Given the description of an element on the screen output the (x, y) to click on. 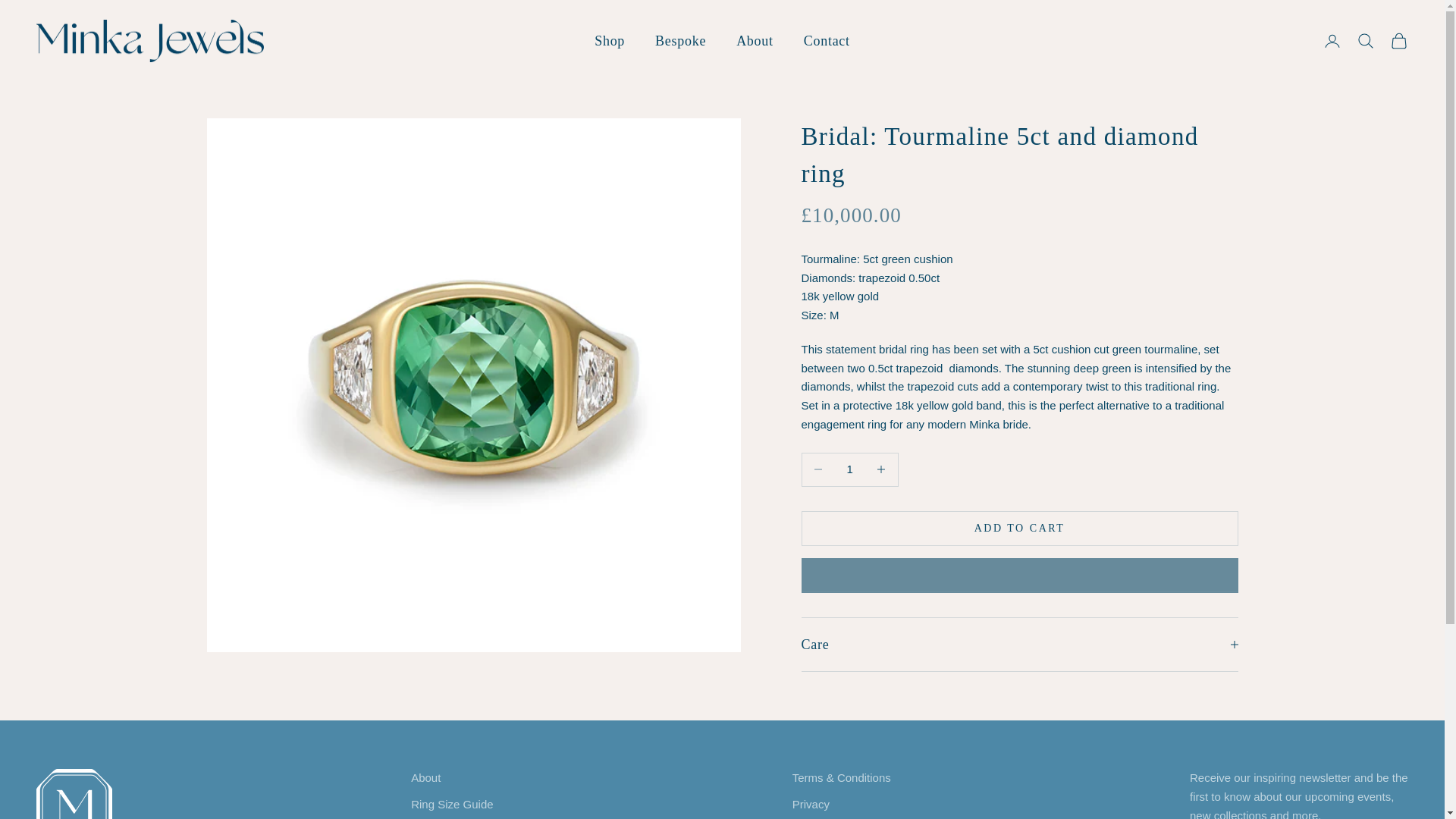
Minka Jewels (149, 41)
Open search (1365, 40)
Open account page (1331, 40)
Open cart (1398, 40)
1 (849, 469)
